Given the description of an element on the screen output the (x, y) to click on. 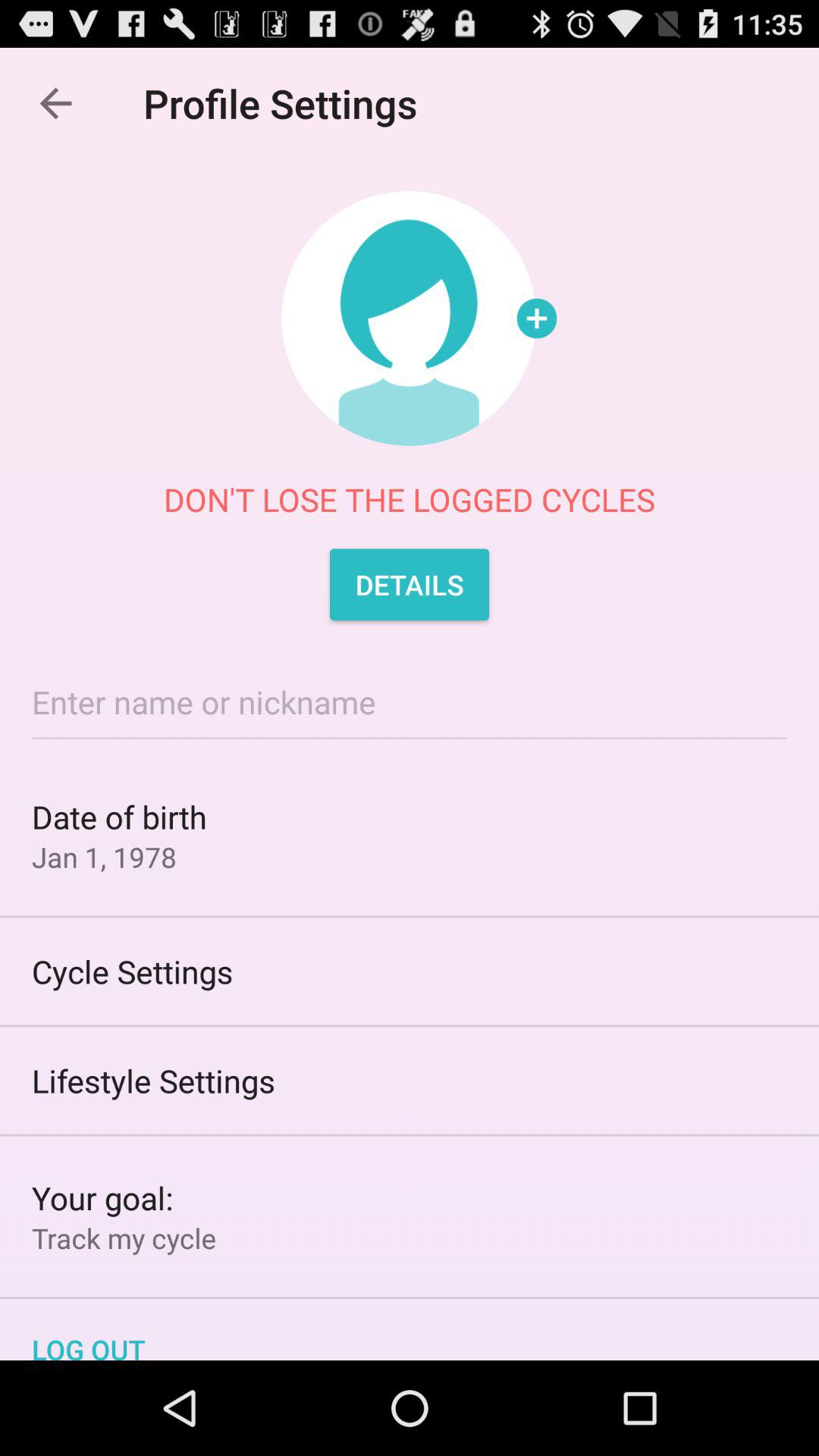
click item below details icon (409, 701)
